Given the description of an element on the screen output the (x, y) to click on. 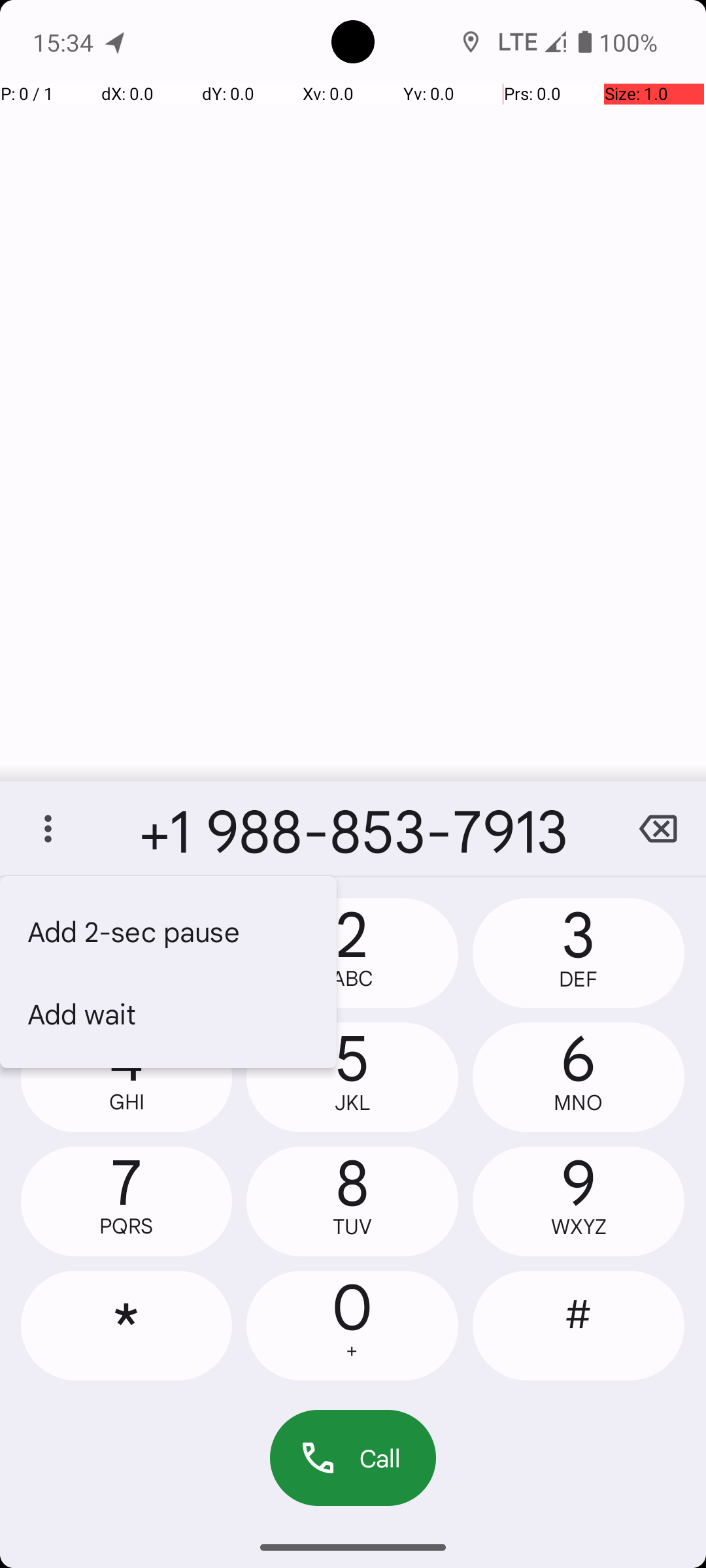
Add 2-sec pause Element type: android.widget.TextView (168, 930)
Add wait Element type: android.widget.TextView (168, 1012)
